Given the description of an element on the screen output the (x, y) to click on. 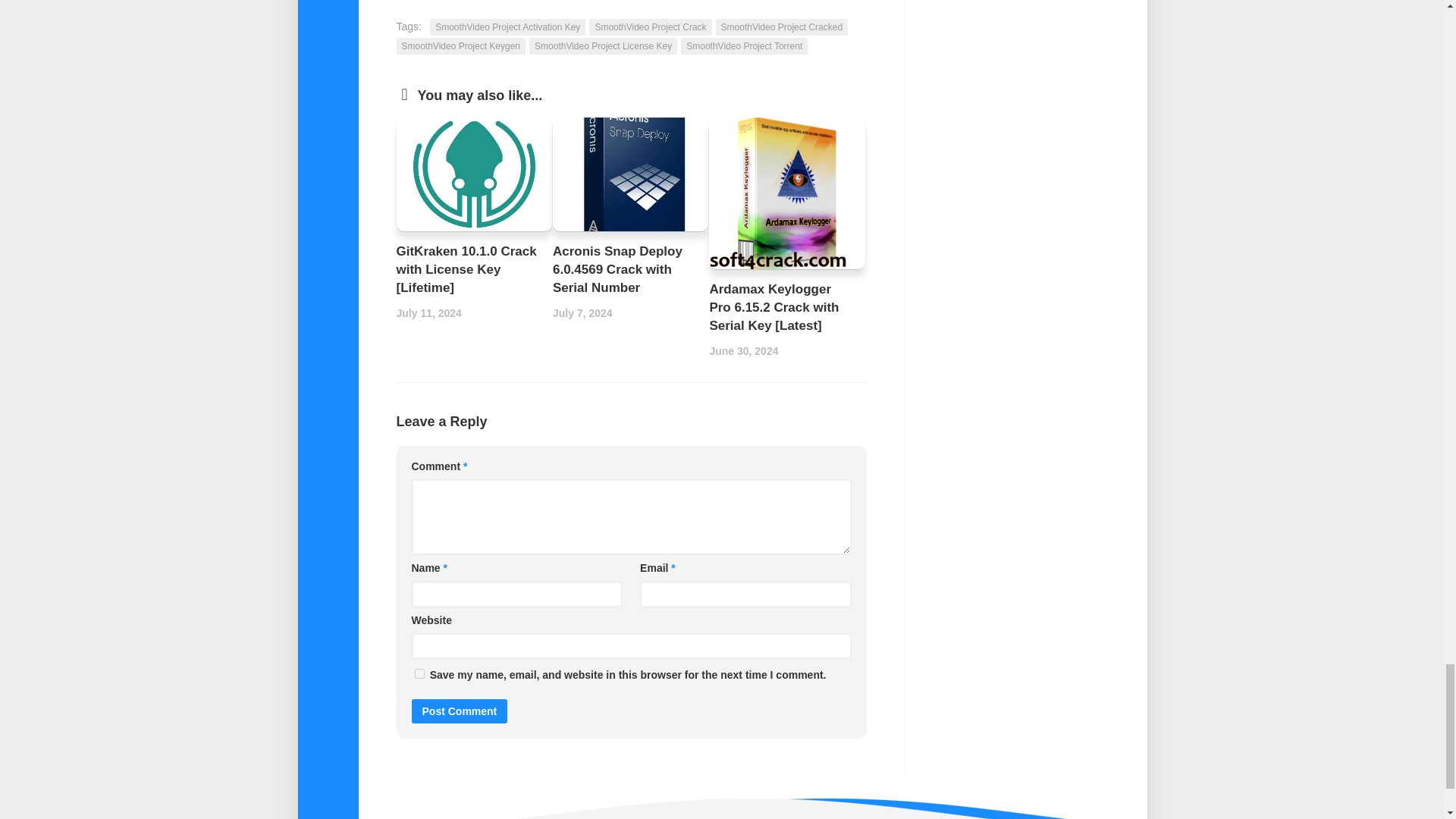
Post Comment (458, 711)
SmoothVideo Project Crack (650, 27)
SmoothVideo Project Torrent (744, 45)
SmoothVideo Project Cracked (782, 27)
Post Comment (458, 711)
SmoothVideo Project Keygen (460, 45)
yes (418, 673)
Acronis Snap Deploy 6.0.4569 Crack with Serial Number (617, 269)
SmoothVideo Project Activation Key (507, 27)
SmoothVideo Project License Key (603, 45)
